Given the description of an element on the screen output the (x, y) to click on. 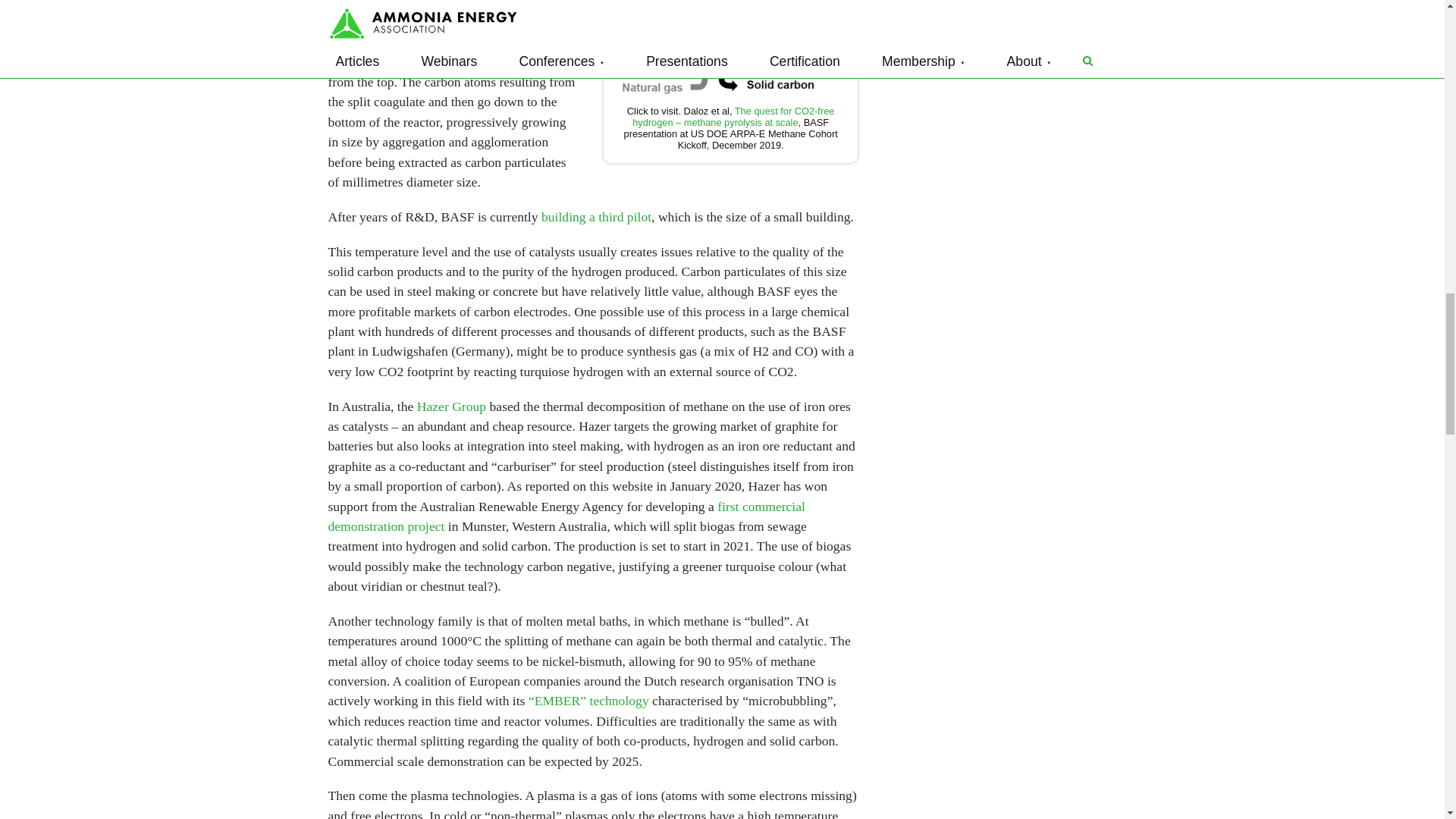
building a third pilot (595, 216)
first commercial demonstration project (566, 515)
Hazer Group (451, 406)
